Given the description of an element on the screen output the (x, y) to click on. 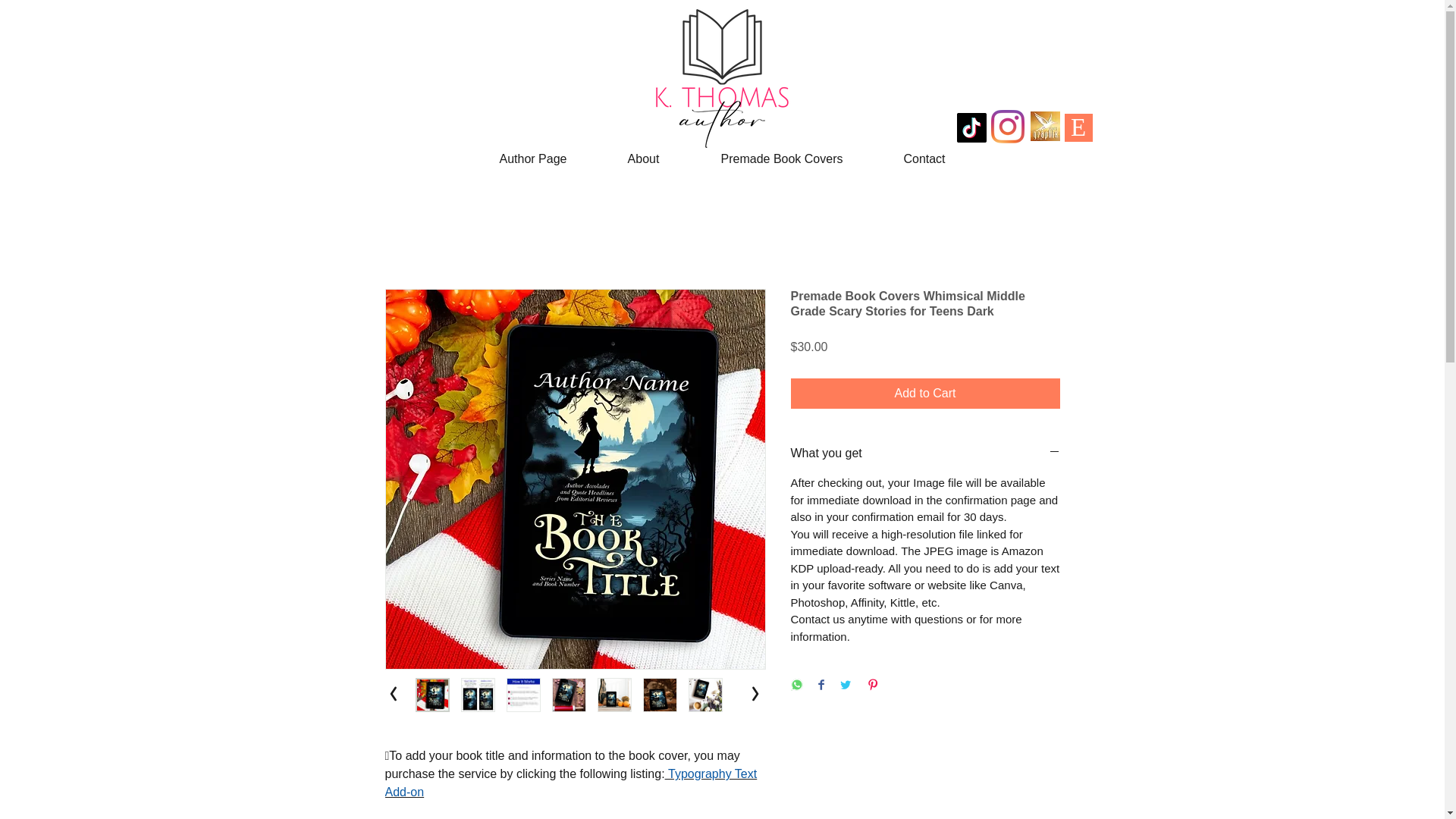
Premade Book Covers (782, 158)
E (1077, 127)
Add to Cart (924, 393)
About (643, 158)
Typography Text Add-on (571, 782)
Author Page (532, 158)
What you get (924, 453)
Contact (923, 158)
